Given the description of an element on the screen output the (x, y) to click on. 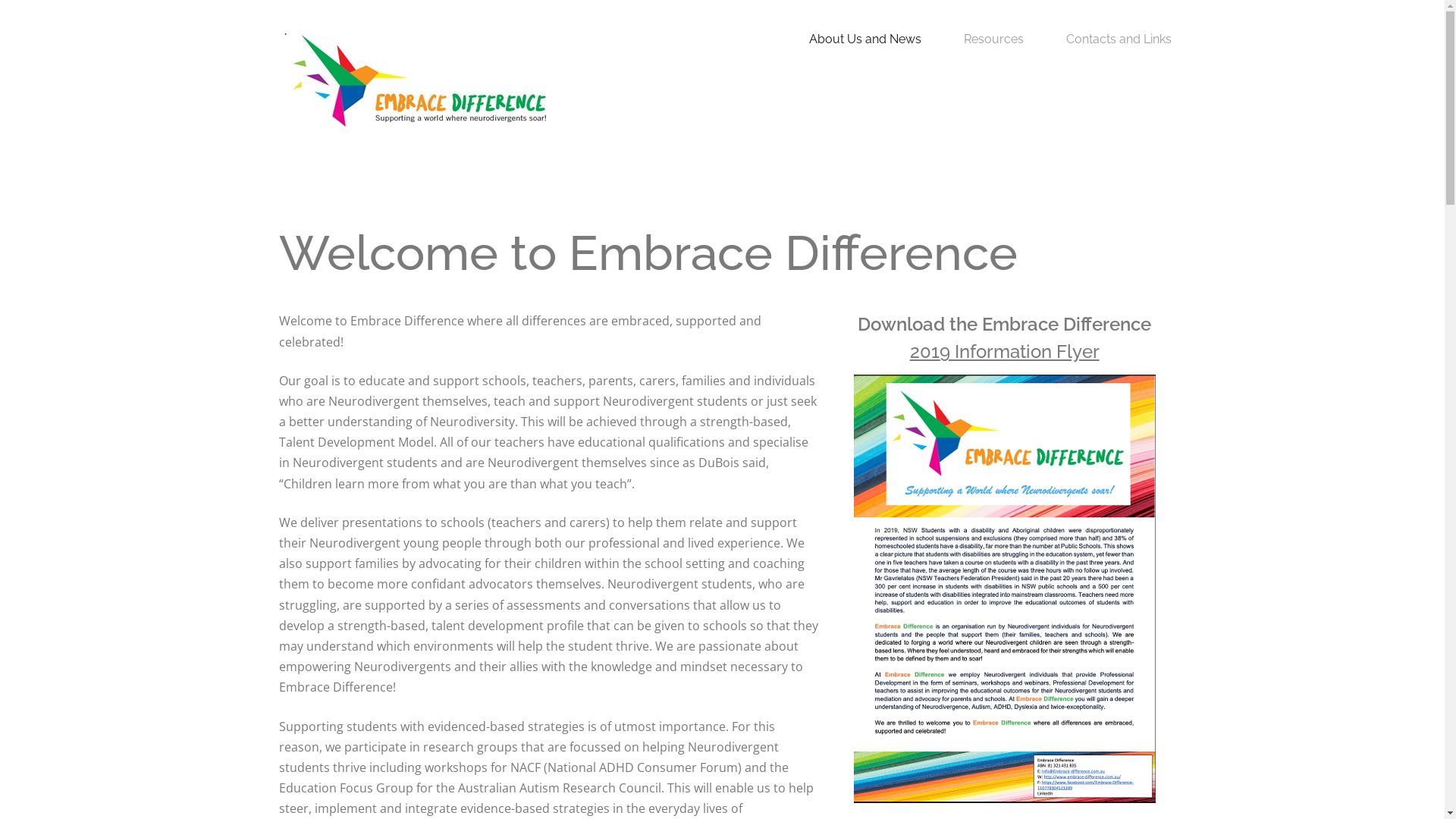
2019 Information Flyer Element type: text (1004, 351)
Contacts and Links Element type: text (1118, 38)
Resources Element type: text (993, 38)
About Us and News Element type: text (865, 38)
